Given the description of an element on the screen output the (x, y) to click on. 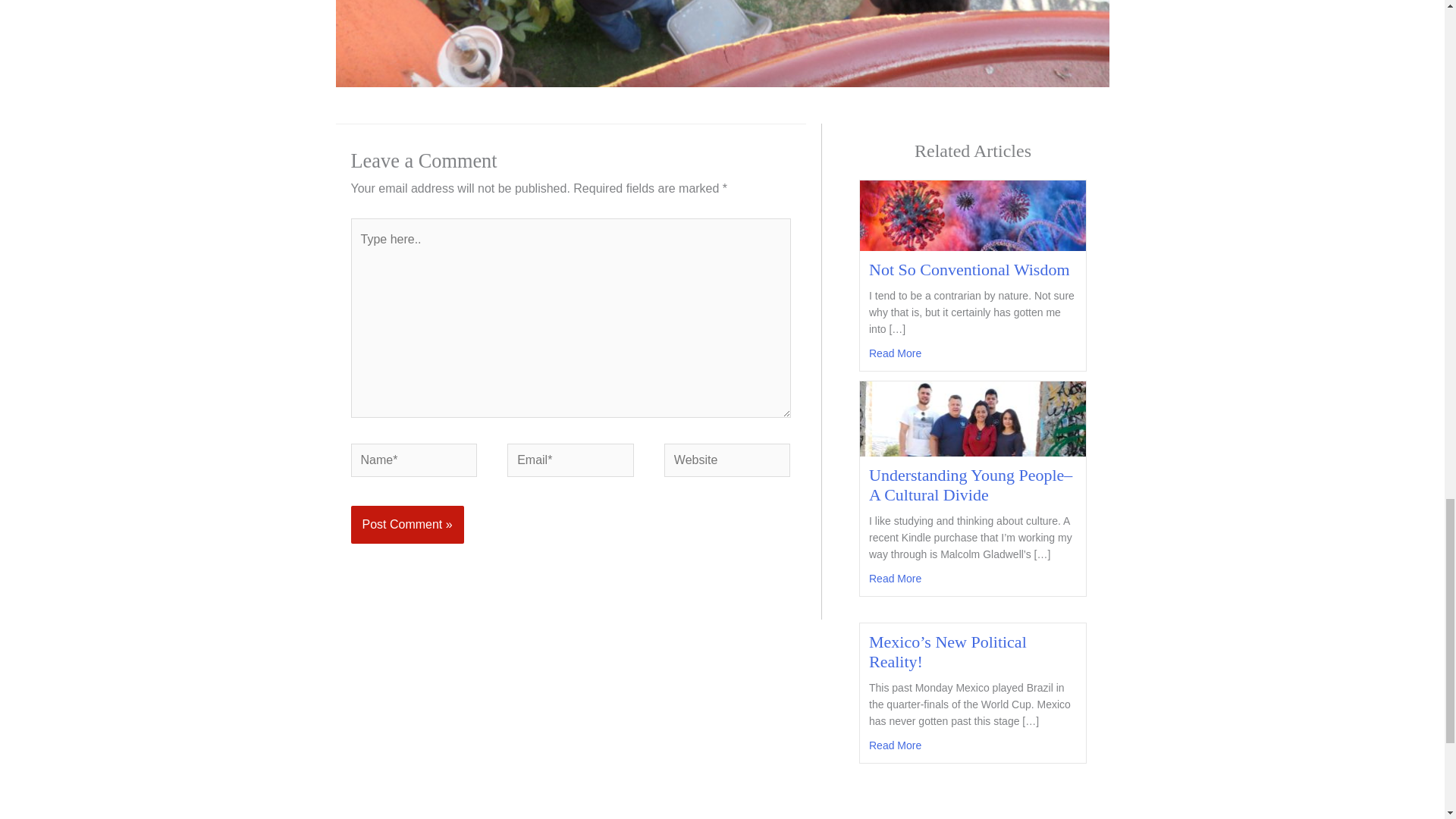
Not So Conventional Wisdom (969, 269)
Read More (895, 745)
Read More (895, 352)
Not So Conventional Wisdom (969, 269)
Read More (895, 578)
Not So Conventional Wisdom (895, 352)
Not So Conventional Wisdom (973, 214)
